Given the description of an element on the screen output the (x, y) to click on. 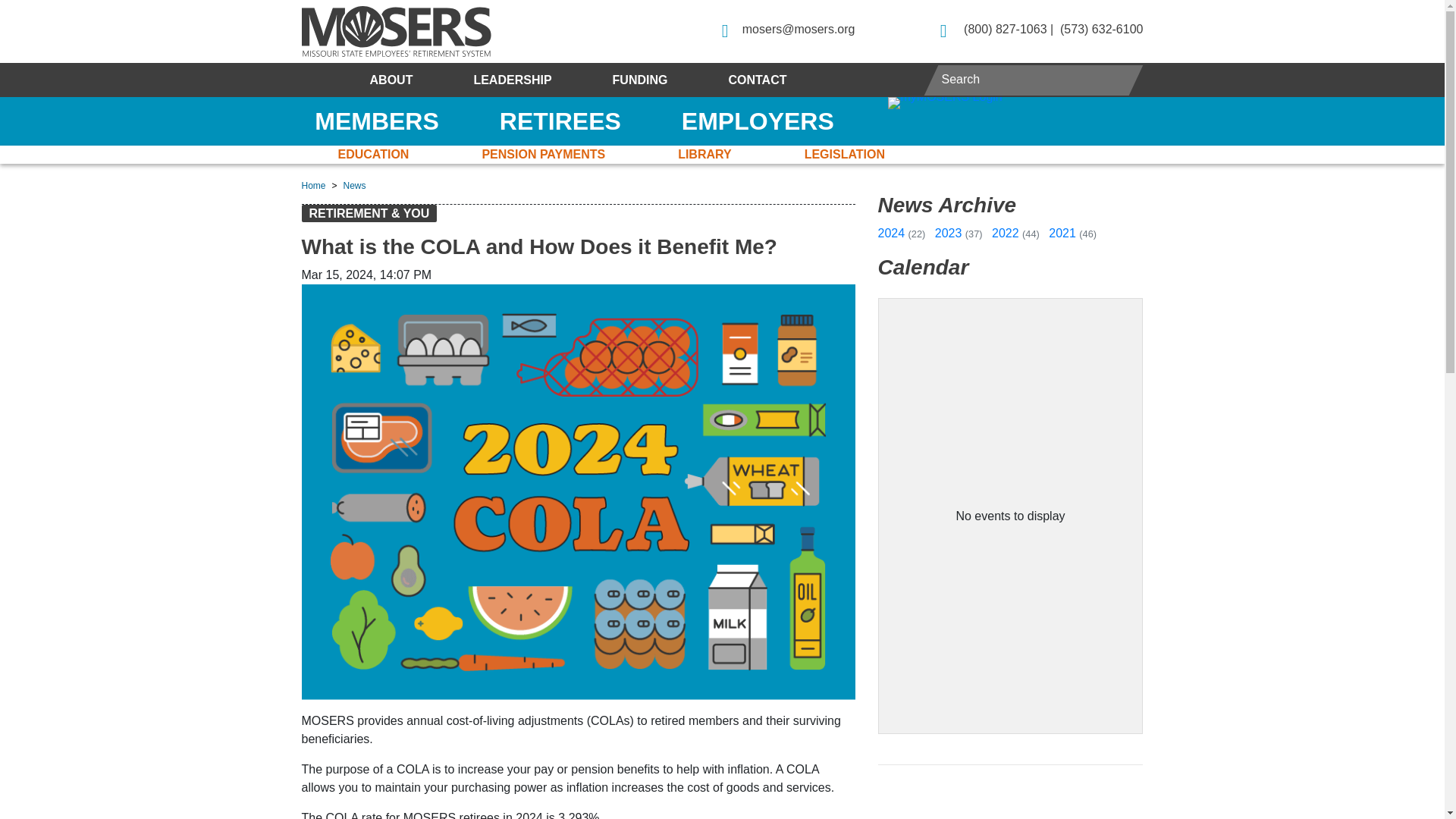
CONTACT (756, 80)
EDUCATION (373, 154)
MOSERS Home (396, 30)
MEMBERS (375, 121)
PENSION PAYMENTS (543, 154)
myMOSERS Login (1007, 102)
ABOUT (391, 80)
LEGISLATION (844, 154)
MOSERS Home (396, 30)
